Given the description of an element on the screen output the (x, y) to click on. 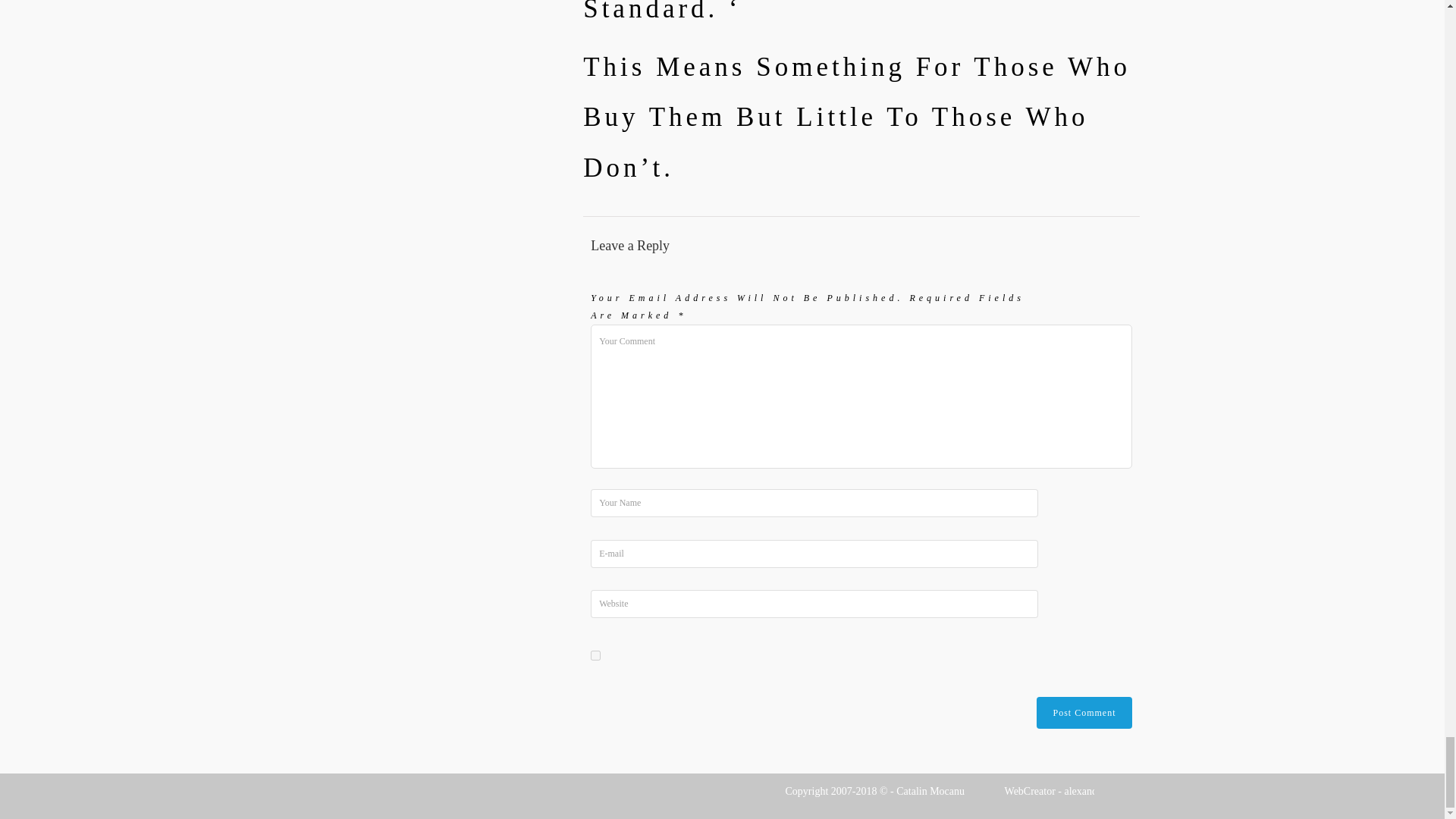
Post Comment (1083, 712)
Post Comment (1083, 712)
yes (595, 655)
